Given the description of an element on the screen output the (x, y) to click on. 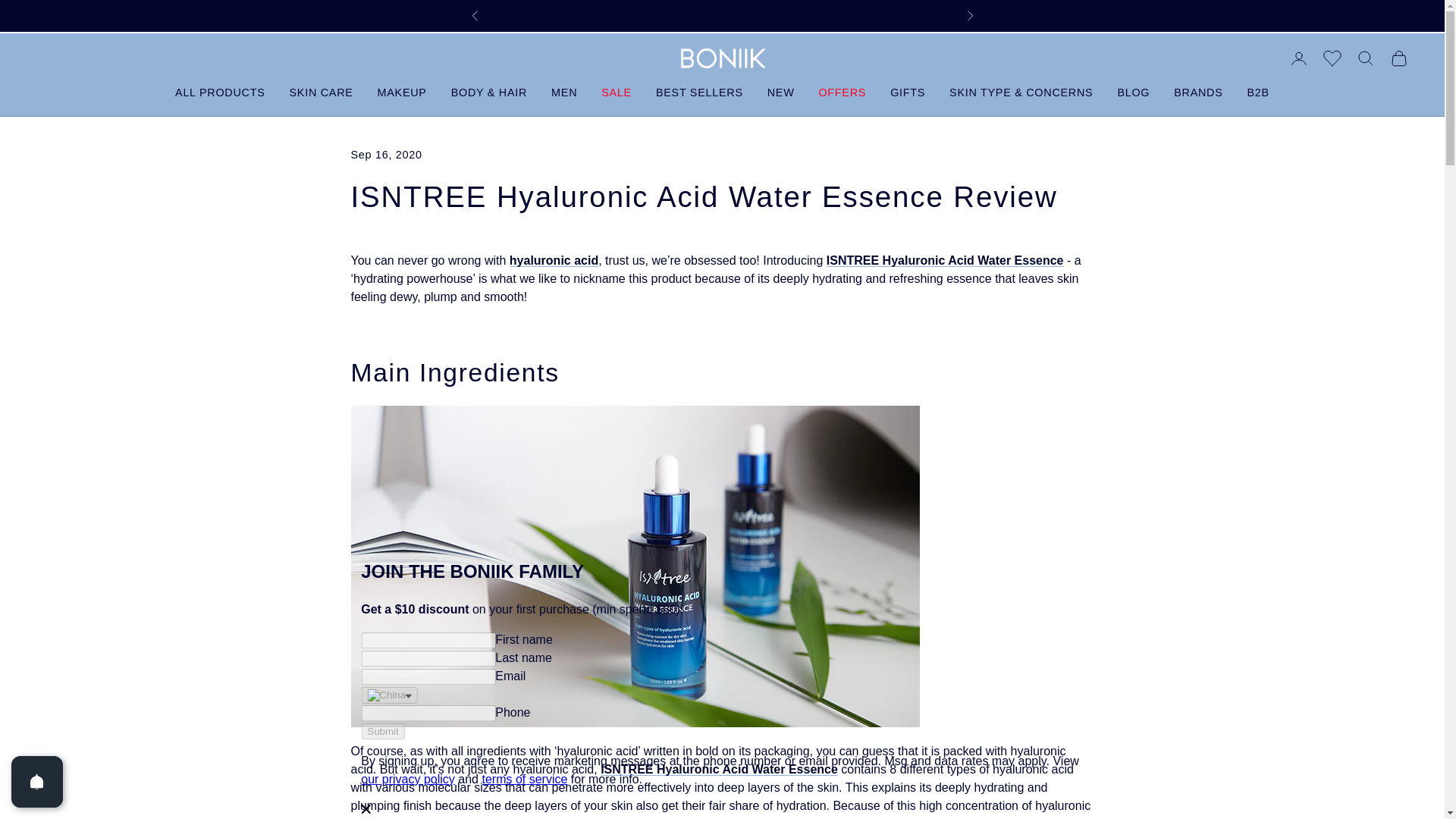
ALL PRODUCTS (219, 92)
Next (968, 15)
BONIIK (721, 57)
Previous (474, 15)
